Given the description of an element on the screen output the (x, y) to click on. 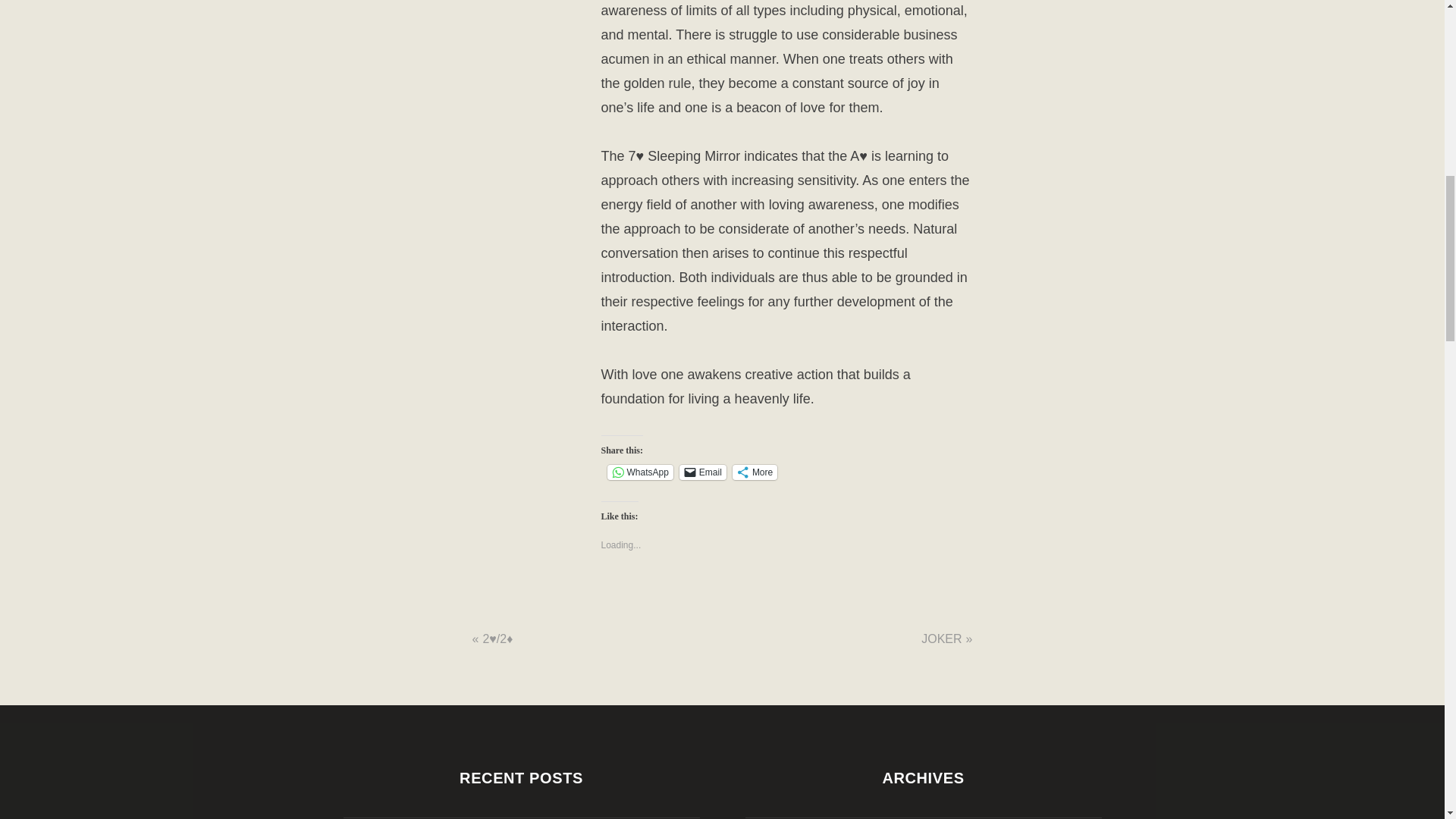
More (754, 472)
Click to share on WhatsApp (639, 472)
JOKER (940, 638)
Email (702, 472)
Click to email a link to a friend (702, 472)
WhatsApp (639, 472)
